Given the description of an element on the screen output the (x, y) to click on. 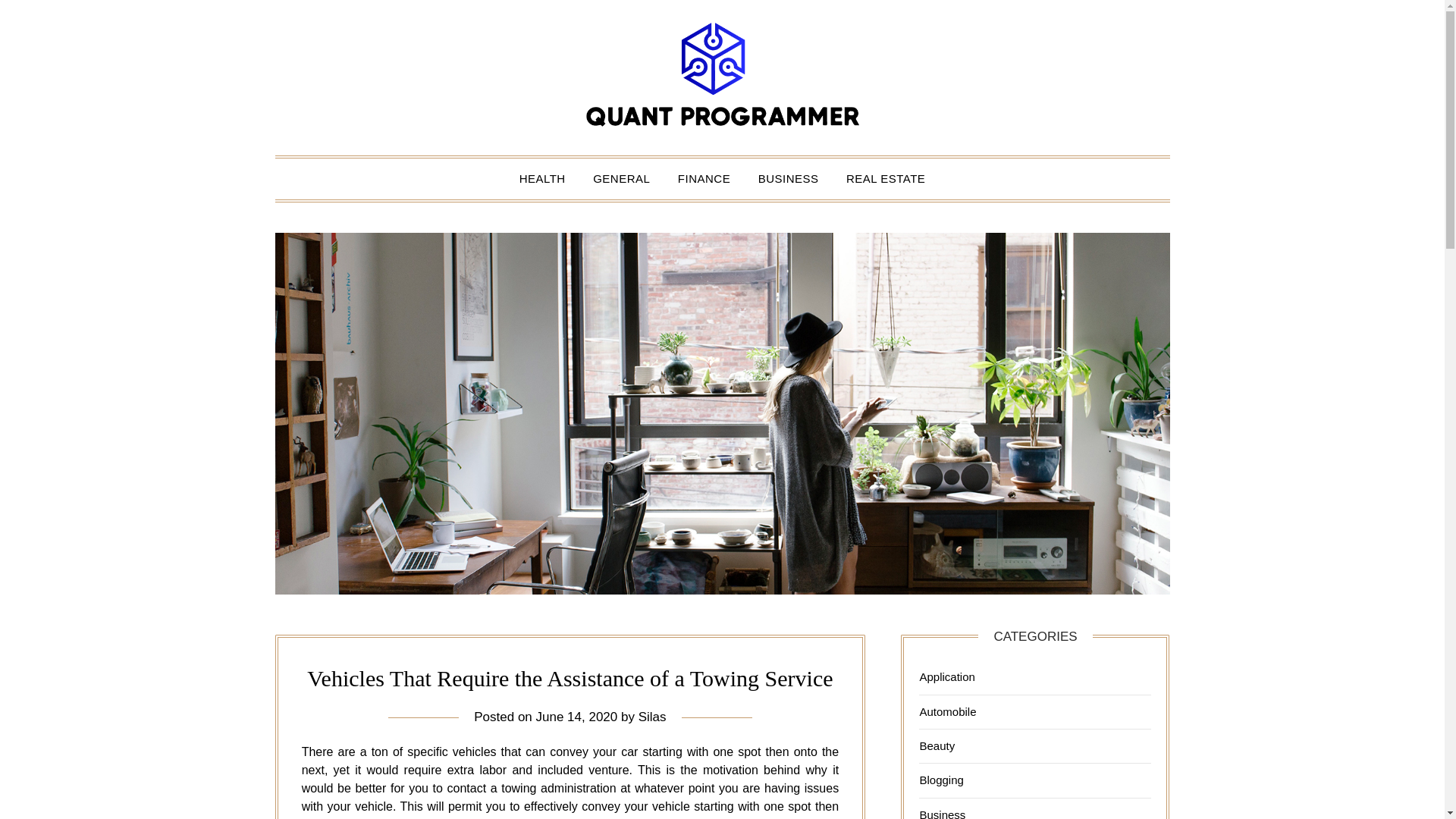
REAL ESTATE (885, 178)
Blogging (940, 779)
Application (946, 676)
GENERAL (621, 178)
FINANCE (703, 178)
BUSINESS (788, 178)
Silas (652, 716)
Beauty (936, 745)
HEALTH (542, 178)
Automobile (946, 711)
Business (941, 813)
June 14, 2020 (576, 716)
